Given the description of an element on the screen output the (x, y) to click on. 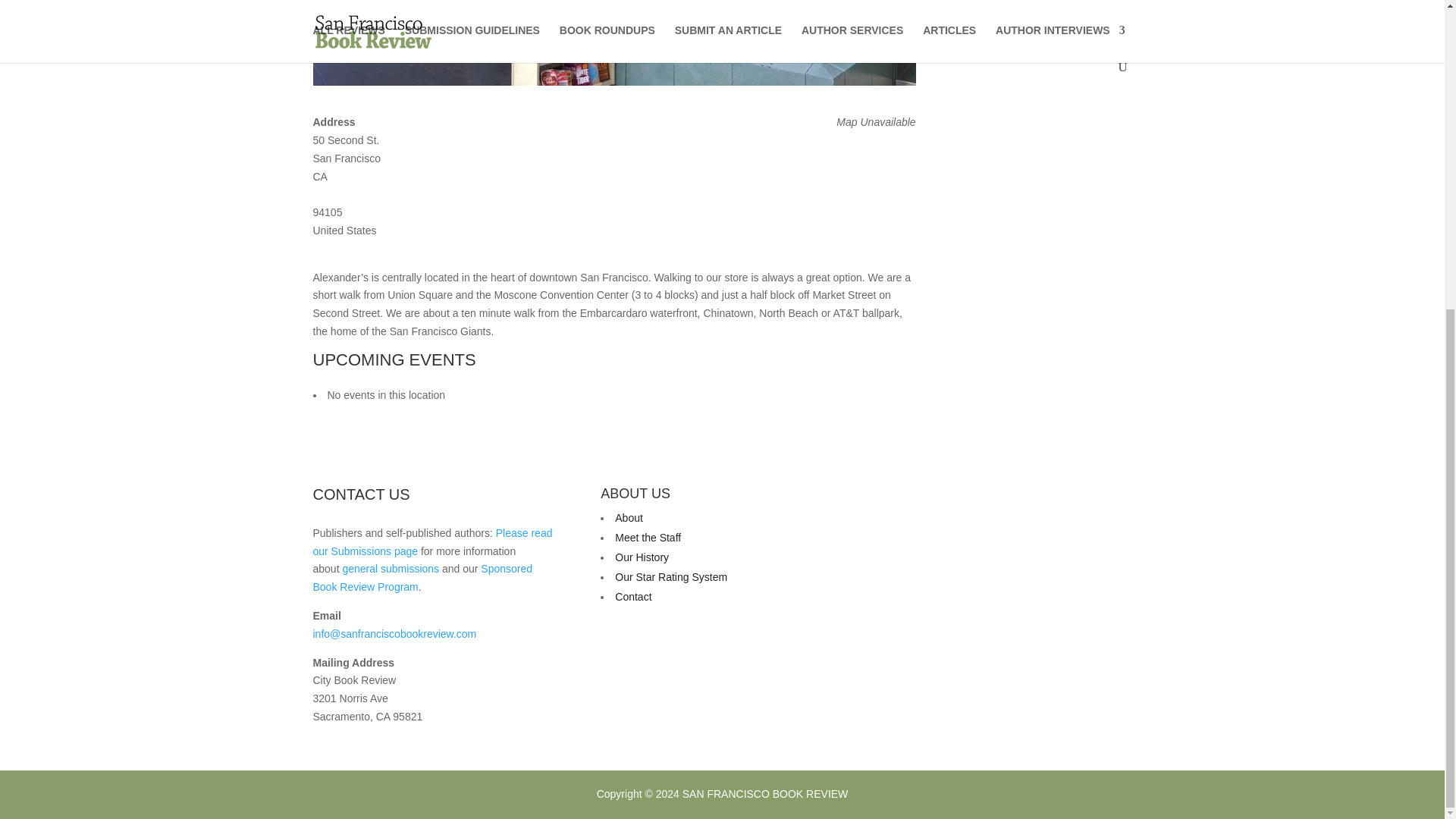
Submitting Books for Review (432, 542)
Please read our Submissions page (432, 542)
Our Star Rating System (670, 576)
Sponsored Book Review Program (422, 577)
general submissions (390, 568)
Contact (632, 596)
Our History (641, 557)
About (628, 517)
SAN FRANCISCO BOOK REVIEW (765, 793)
Meet the Staff (647, 537)
